Given the description of an element on the screen output the (x, y) to click on. 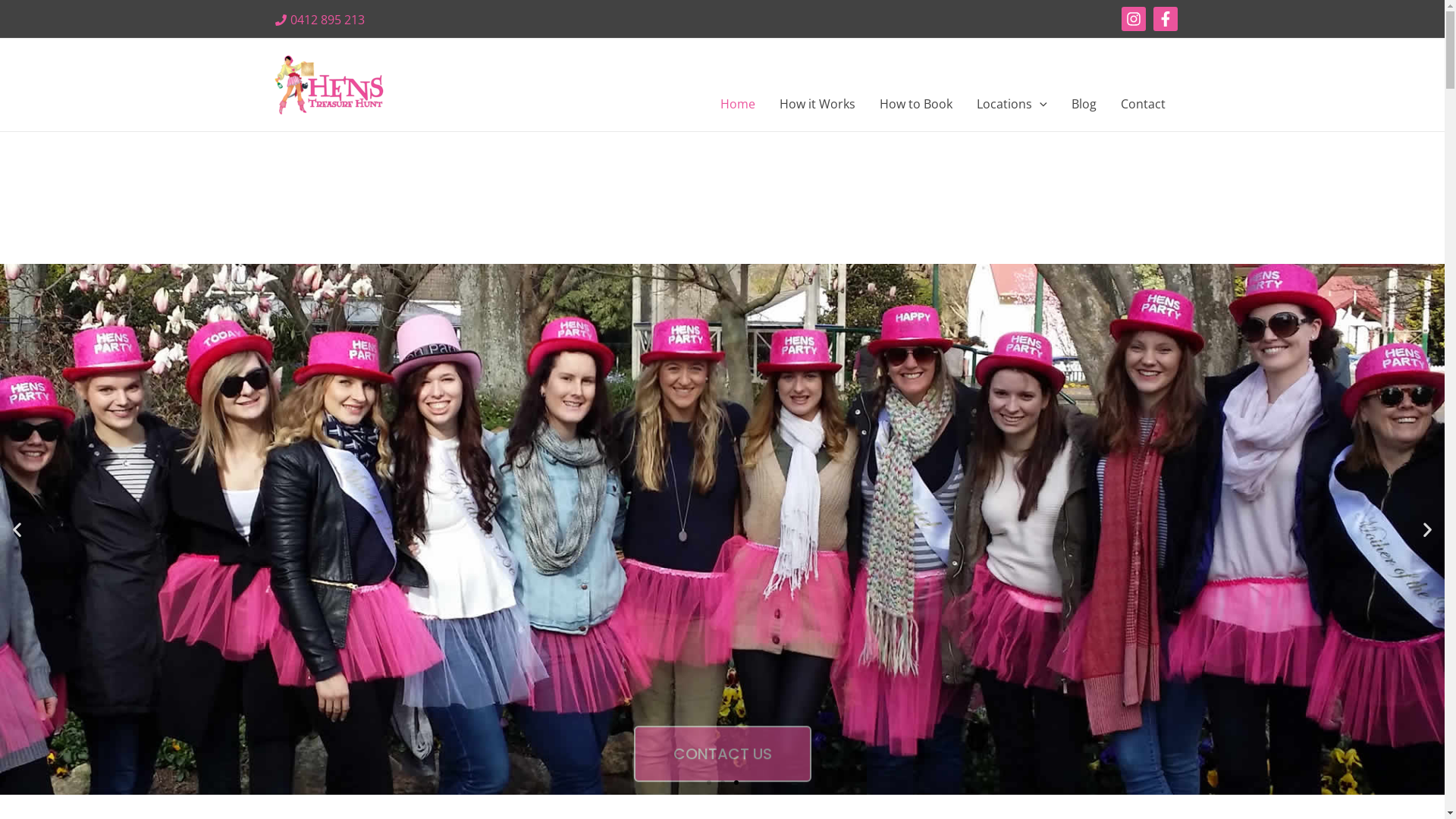
How to Book Element type: text (915, 103)
Contact Element type: text (1142, 103)
Blog Element type: text (1082, 103)
How it Works Element type: text (817, 103)
CONTACT US Element type: text (722, 728)
Home Element type: text (737, 103)
0412 895 213 Element type: text (319, 19)
Locations Element type: text (1011, 103)
